Given the description of an element on the screen output the (x, y) to click on. 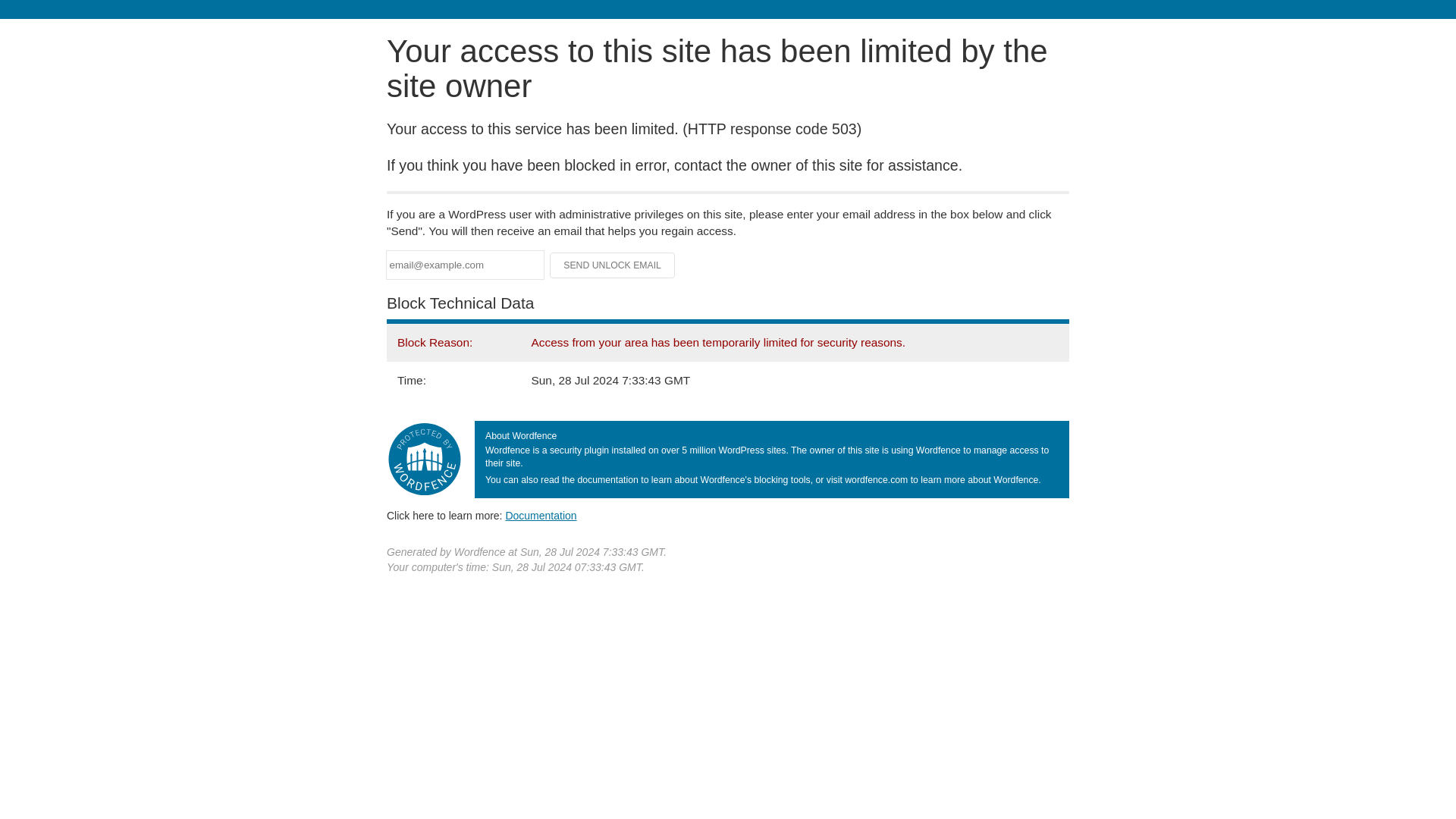
Send Unlock Email (612, 265)
Send Unlock Email (612, 265)
Documentation (540, 515)
